Given the description of an element on the screen output the (x, y) to click on. 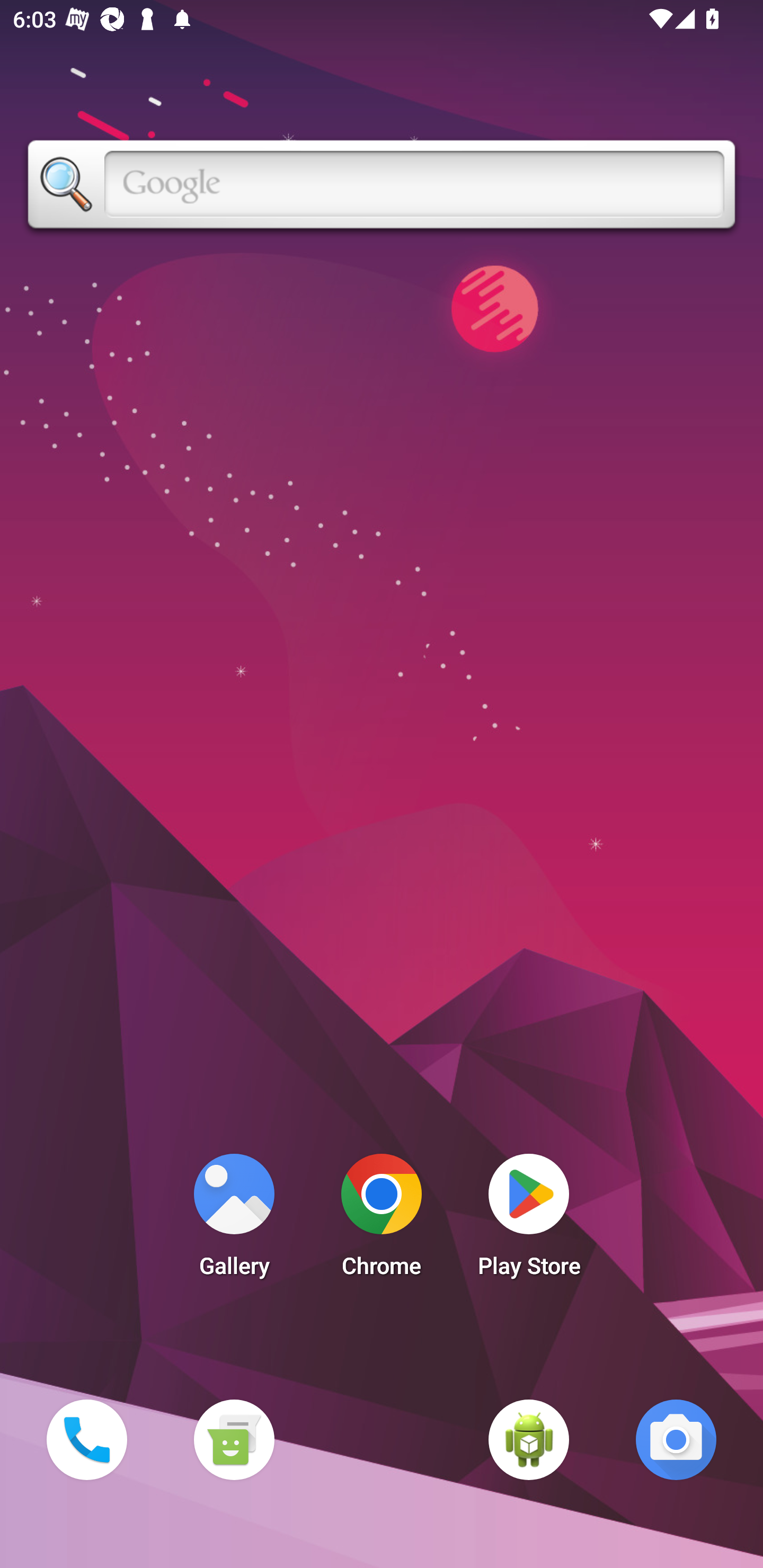
Gallery (233, 1220)
Chrome (381, 1220)
Play Store (528, 1220)
Phone (86, 1439)
Messaging (233, 1439)
WebView Browser Tester (528, 1439)
Camera (676, 1439)
